Given the description of an element on the screen output the (x, y) to click on. 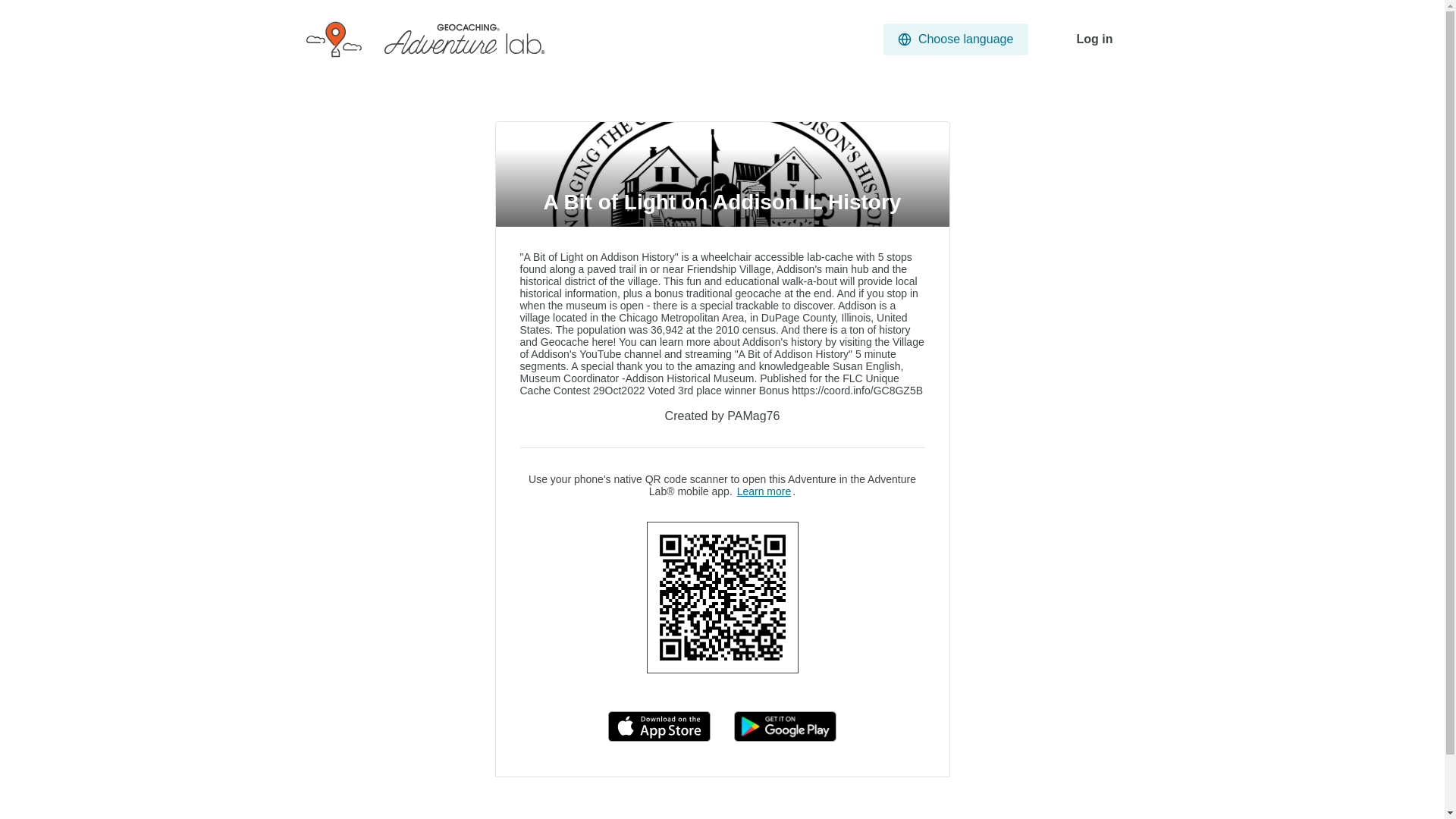
Log in (1094, 39)
Learn more (764, 491)
Choose language (955, 39)
